Given the description of an element on the screen output the (x, y) to click on. 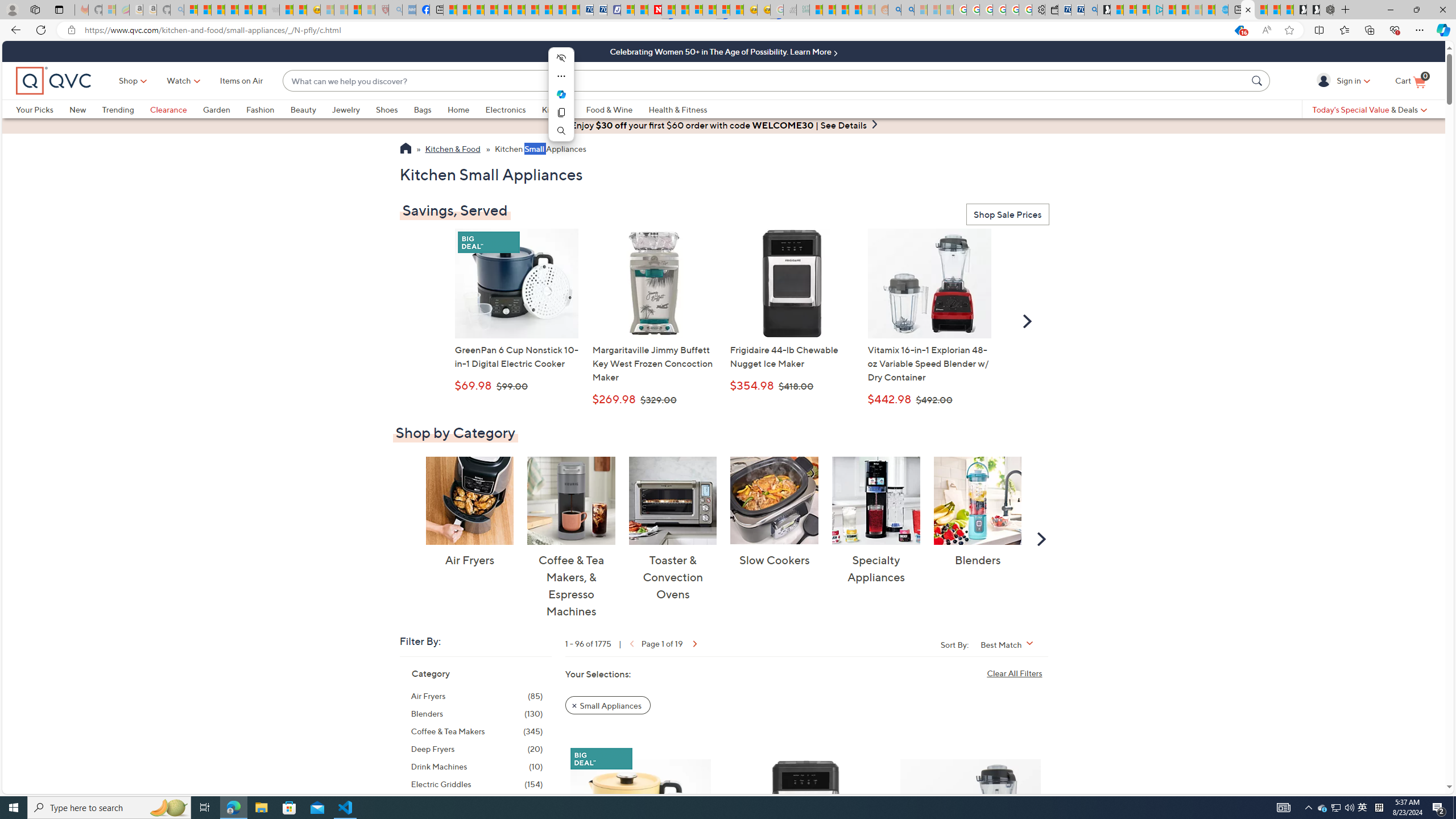
 Frigidaire 44-lb Chewable Nugget Ice Maker - K86274 (791, 283)
Return to QVC Homepage (405, 149)
Student Loan Update: Forgiveness Program Ends This Month (855, 9)
QVC home (53, 80)
Recipes - MSN - Sleeping (327, 9)
Clearance (175, 109)
Watch (178, 80)
